Given the description of an element on the screen output the (x, y) to click on. 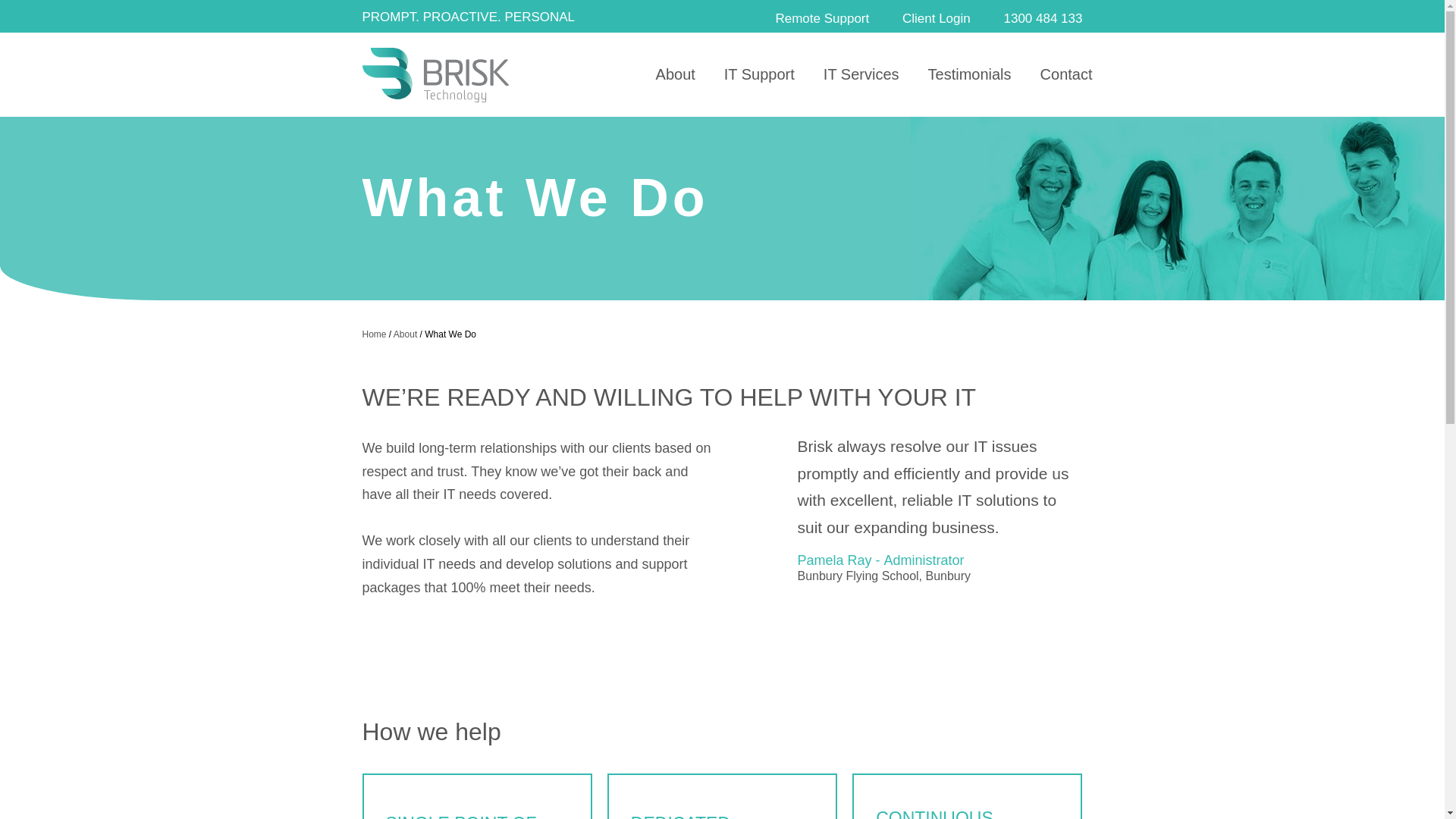
Home Element type: text (374, 334)
About Element type: text (405, 334)
About Element type: text (675, 74)
Client Login Element type: text (932, 17)
Remote Support Element type: text (818, 17)
Contact Element type: text (1059, 74)
Testimonials Element type: text (969, 74)
IT Support Element type: text (759, 74)
1300 484 133 Element type: text (1039, 18)
IT Services Element type: text (861, 74)
